Given the description of an element on the screen output the (x, y) to click on. 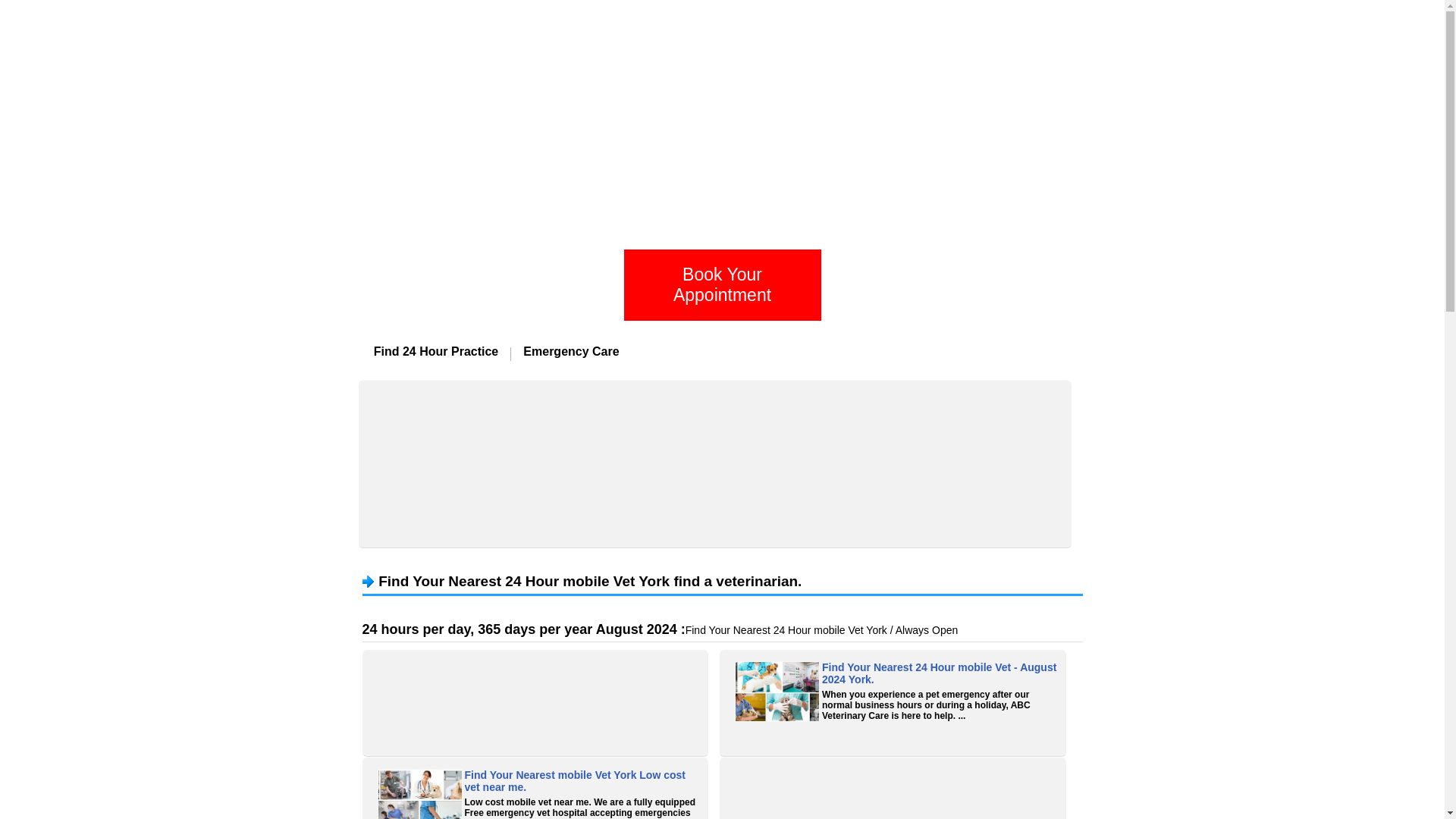
Find Your Nearest 24 Hour mobile Vet - August 2024 York. (939, 672)
Emergency Care (570, 350)
Advertisement (534, 700)
Advertisement (714, 463)
Find Your Nearest mobile Vet York Low cost vet near me. (574, 781)
Find 24 Hour Practice (436, 350)
Find 24 Hour Practice (436, 350)
Advertisement (892, 790)
Emergency Care (570, 350)
